Given the description of an element on the screen output the (x, y) to click on. 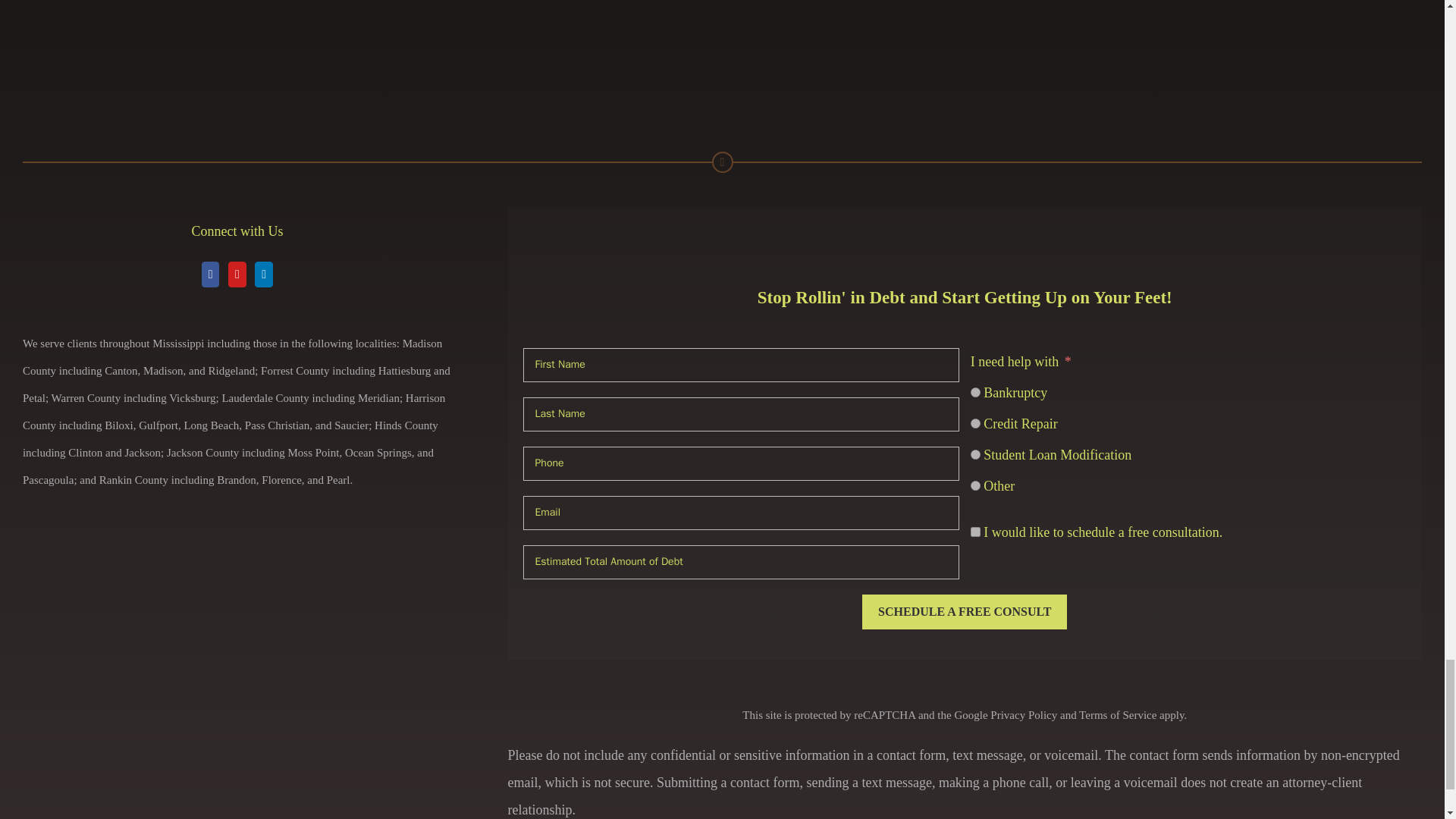
Bankruptcy (975, 392)
I would like to schedule a free consultation. (975, 532)
Student Loan Modification (975, 454)
Credit Repair (975, 423)
Other (975, 485)
